Given the description of an element on the screen output the (x, y) to click on. 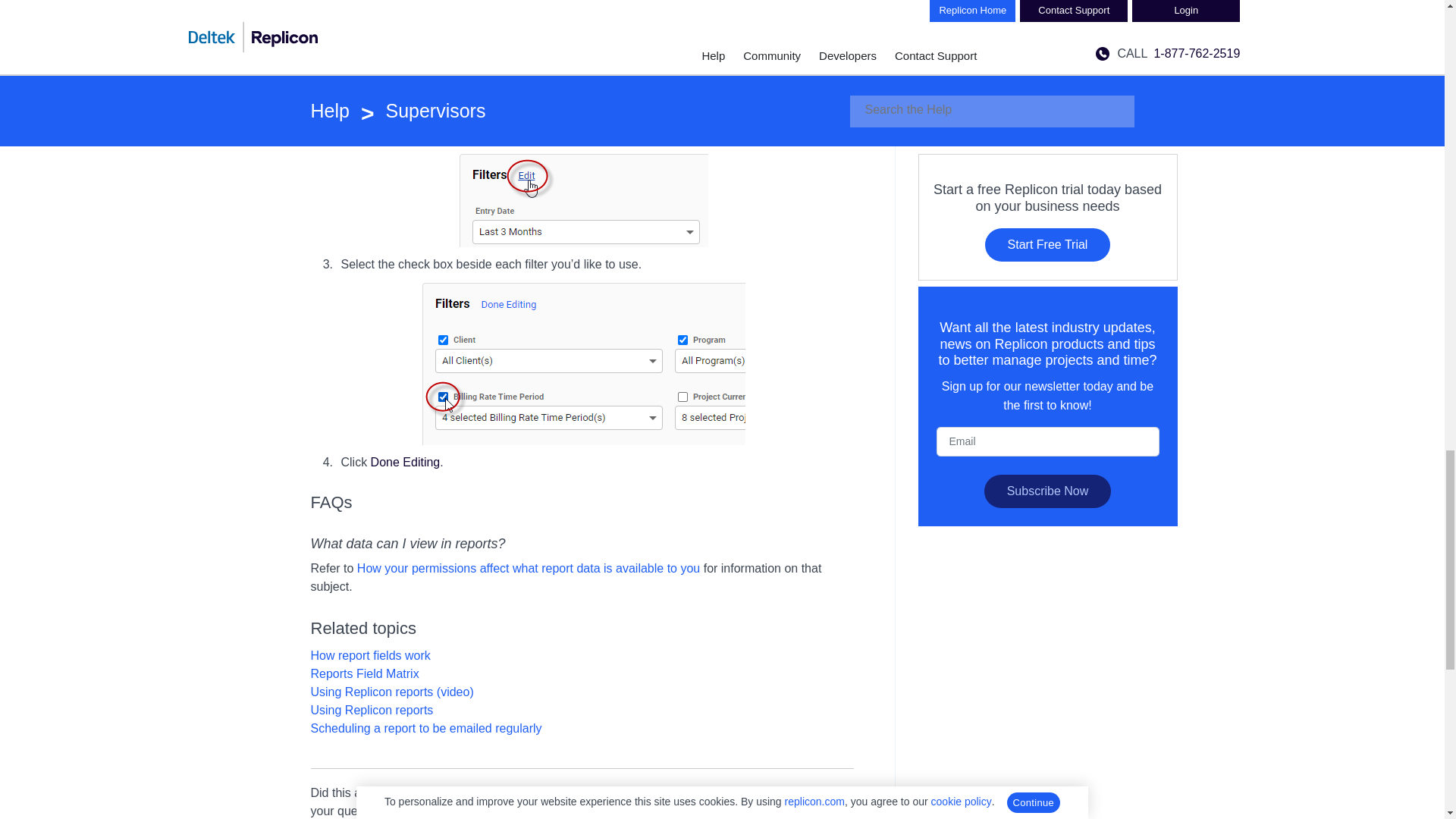
Reports Field Matrix (555, 3)
Reports Field Matrix (365, 673)
report template (399, 18)
Using Replicon reports (372, 709)
How report fields work (370, 655)
yes (466, 791)
no (510, 791)
